Given the description of an element on the screen output the (x, y) to click on. 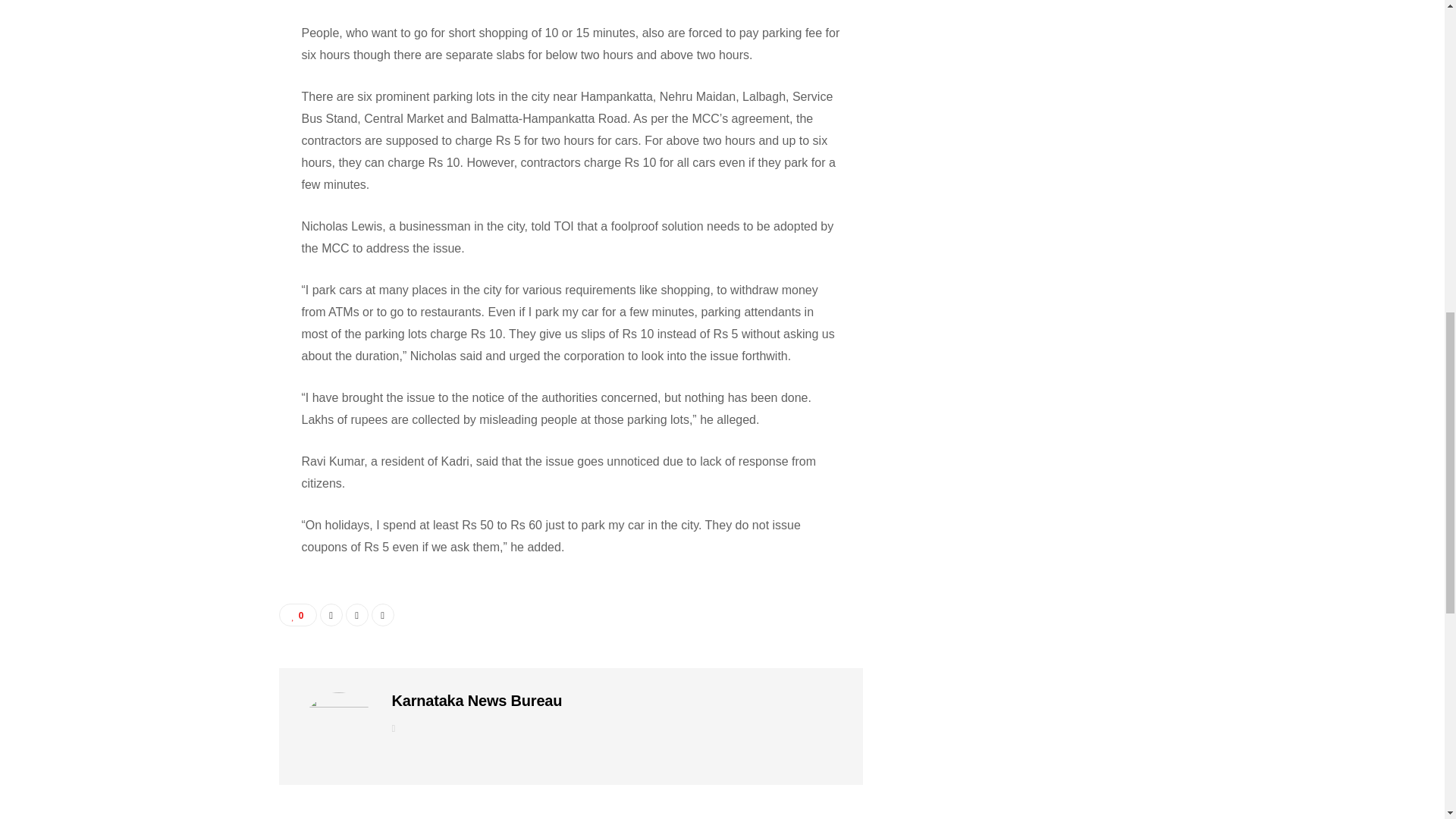
Share on Twitter (357, 614)
Share on Facebook (331, 614)
